Given the description of an element on the screen output the (x, y) to click on. 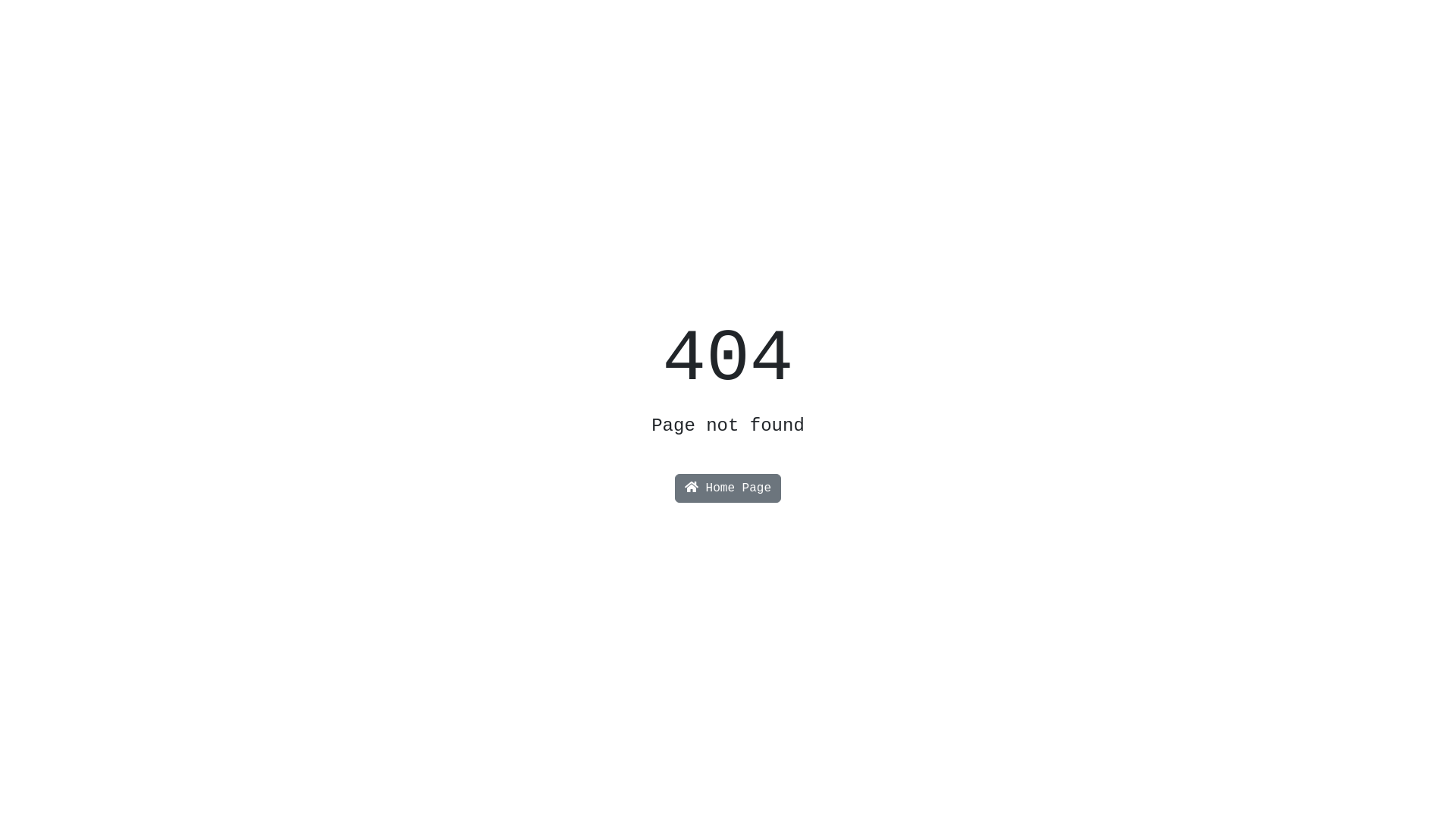
Home Page Element type: text (727, 487)
